Given the description of an element on the screen output the (x, y) to click on. 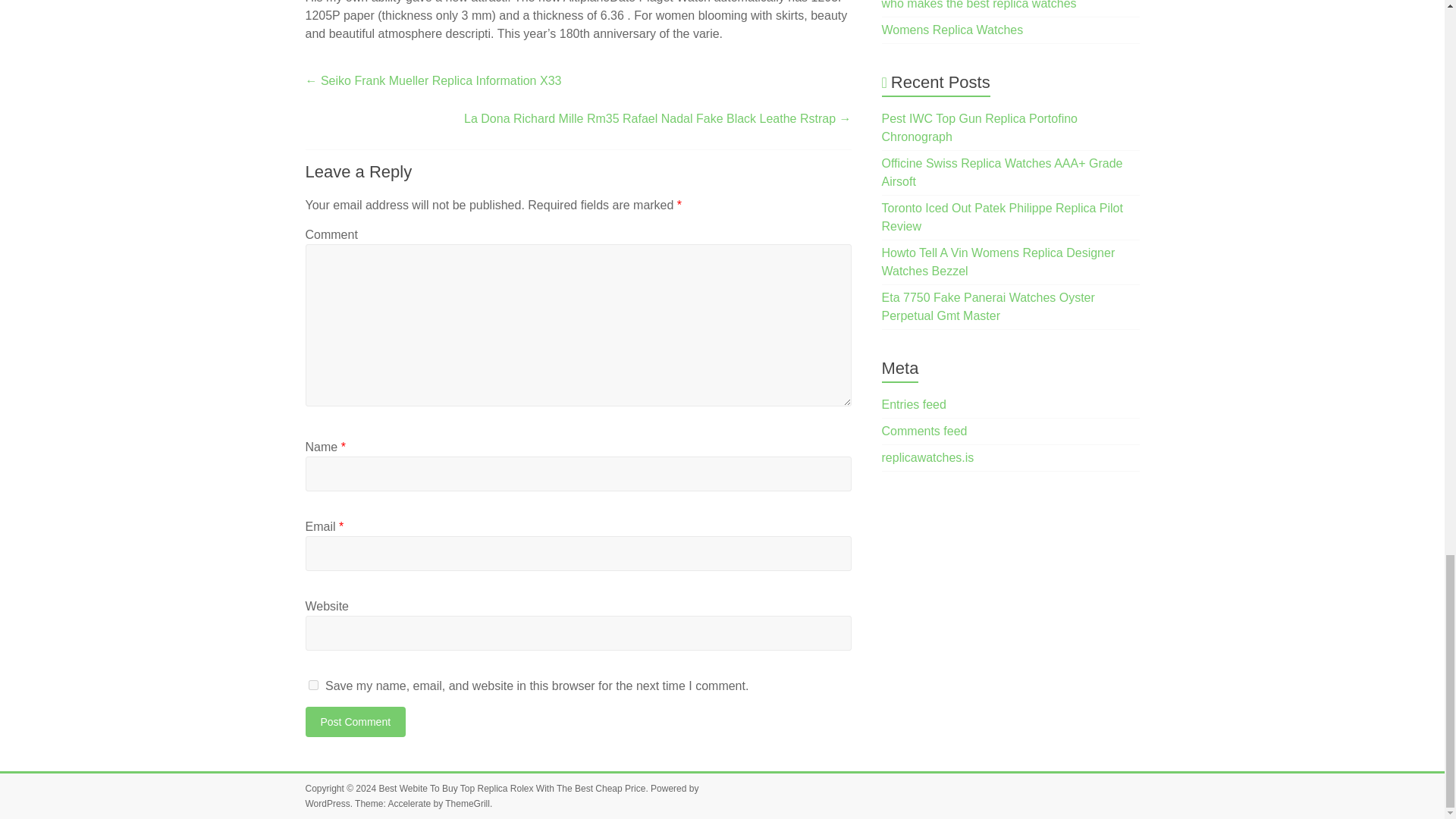
Post Comment (355, 721)
Post Comment (355, 721)
yes (312, 685)
